Given the description of an element on the screen output the (x, y) to click on. 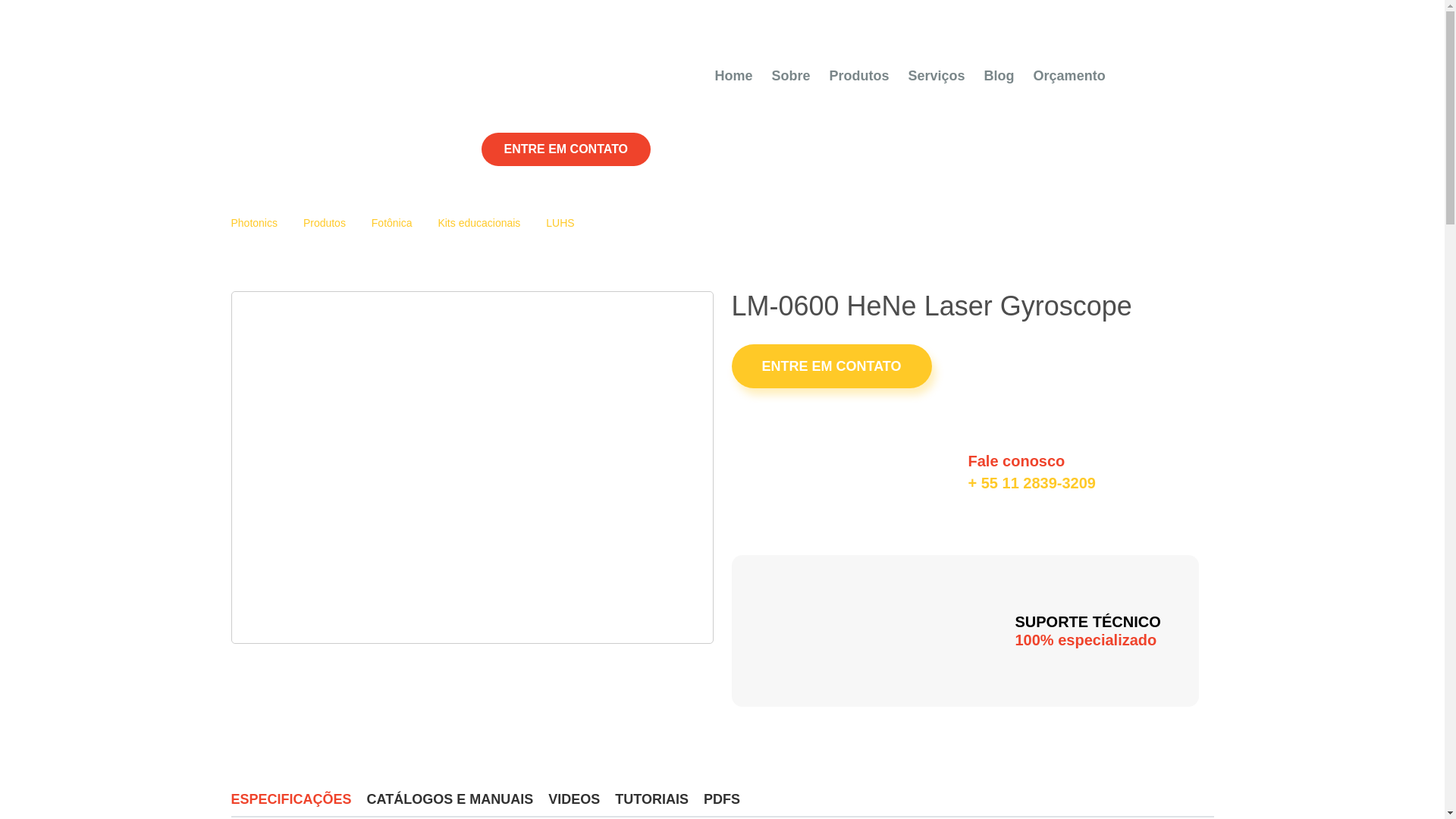
Produtos (324, 223)
Sobre (790, 75)
Go to the Kits educacionais Categoria archives. (478, 223)
Go to the LUHS Categoria archives. (559, 223)
LUHS (559, 223)
Produtos (859, 75)
Photonics (317, 92)
Go to Produtos. (324, 223)
Blog (999, 75)
PDFS (721, 798)
